Given the description of an element on the screen output the (x, y) to click on. 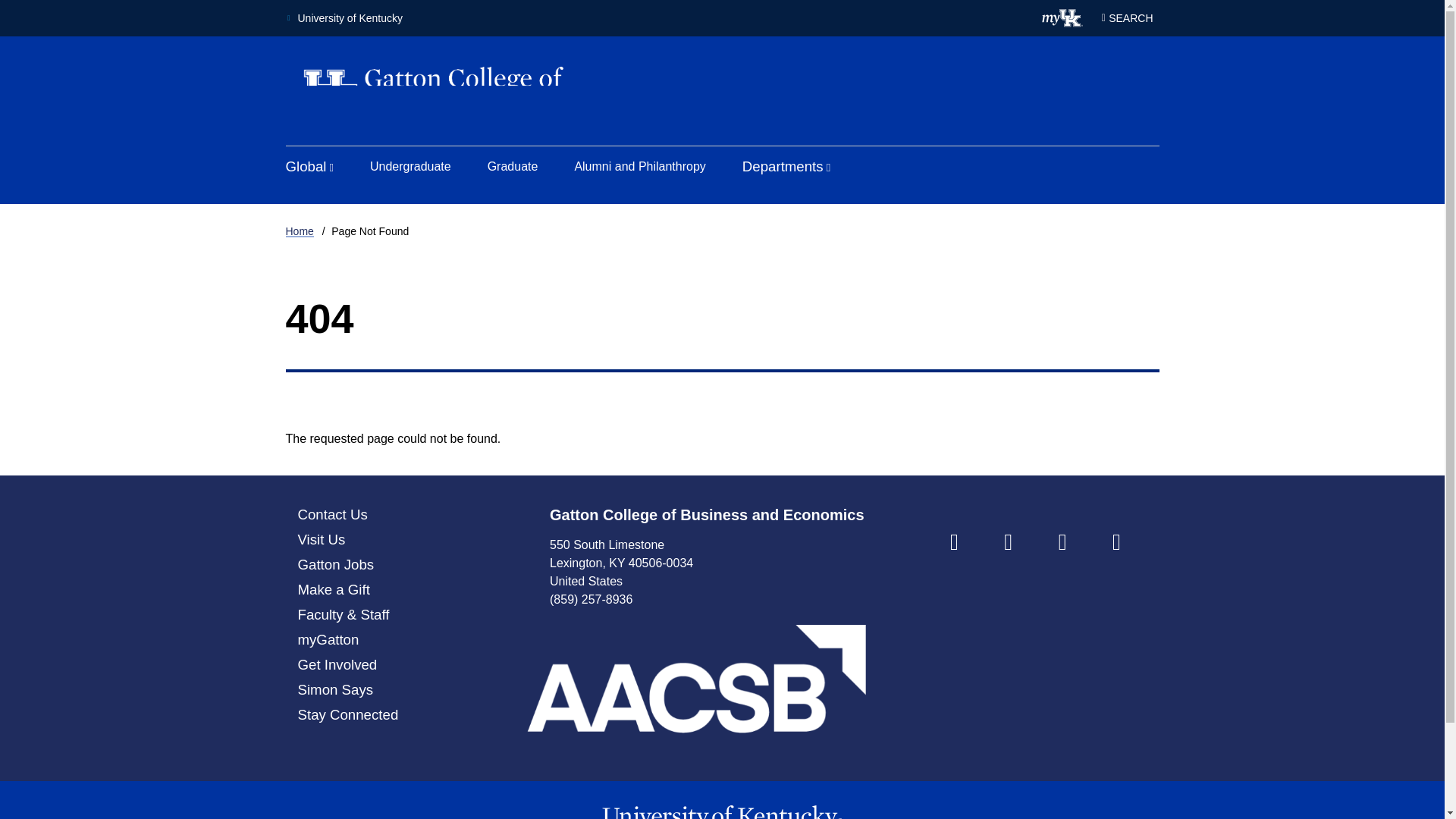
Visit Us (321, 539)
Home (299, 231)
SEARCH (1127, 17)
myGatton (327, 639)
Log into the myUK portal (1062, 18)
Contact Us (331, 514)
Simon Says (334, 689)
Make a Gift (333, 589)
Global (309, 167)
Alumni and Philanthropy (638, 167)
